Given the description of an element on the screen output the (x, y) to click on. 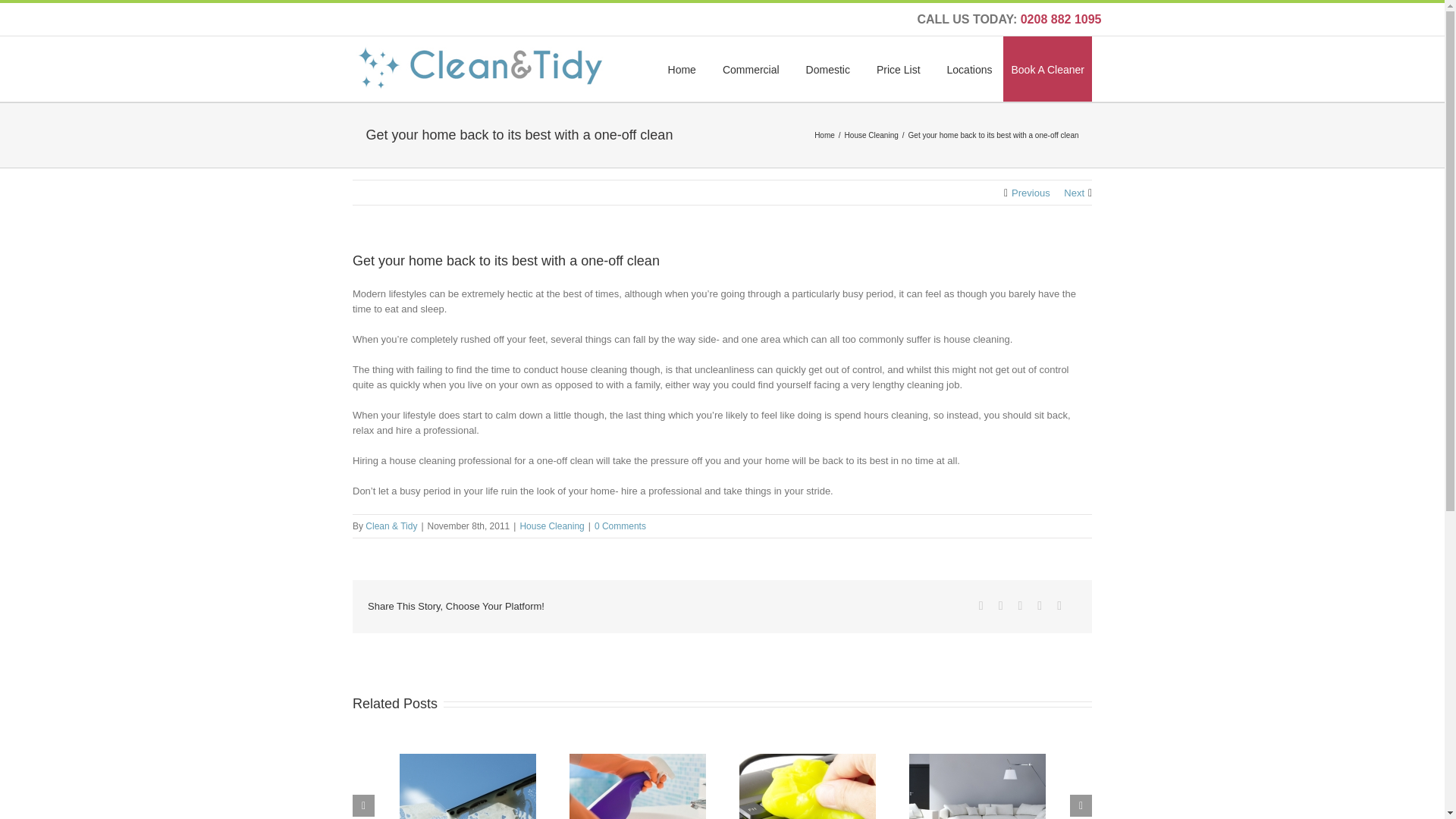
Twitter (1000, 605)
Domestic (828, 68)
Home (681, 68)
House Cleaning (873, 134)
Book A Cleaner (1047, 68)
Commercial (750, 68)
Facebook (981, 605)
Linkedin (1039, 605)
Locations (969, 68)
Price List (898, 68)
Mail (1059, 605)
